Given the description of an element on the screen output the (x, y) to click on. 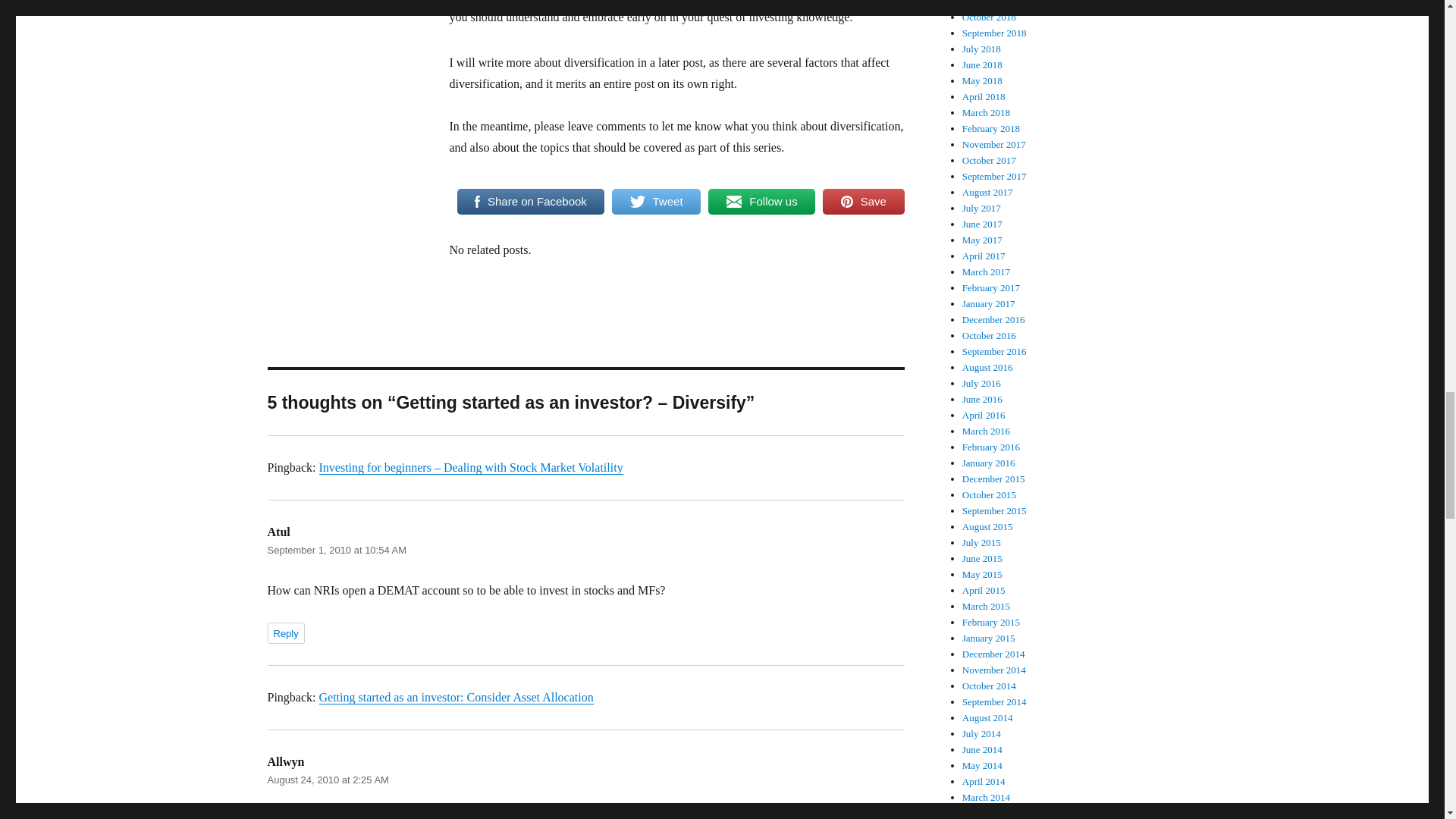
Save (863, 201)
August 24, 2010 at 2:25 AM (327, 779)
Tweet (655, 201)
Share on Facebook (530, 201)
Getting started as an investor: Consider Asset Allocation (455, 697)
September 1, 2010 at 10:54 AM (336, 550)
Follow us (761, 201)
Reply (285, 632)
